Given the description of an element on the screen output the (x, y) to click on. 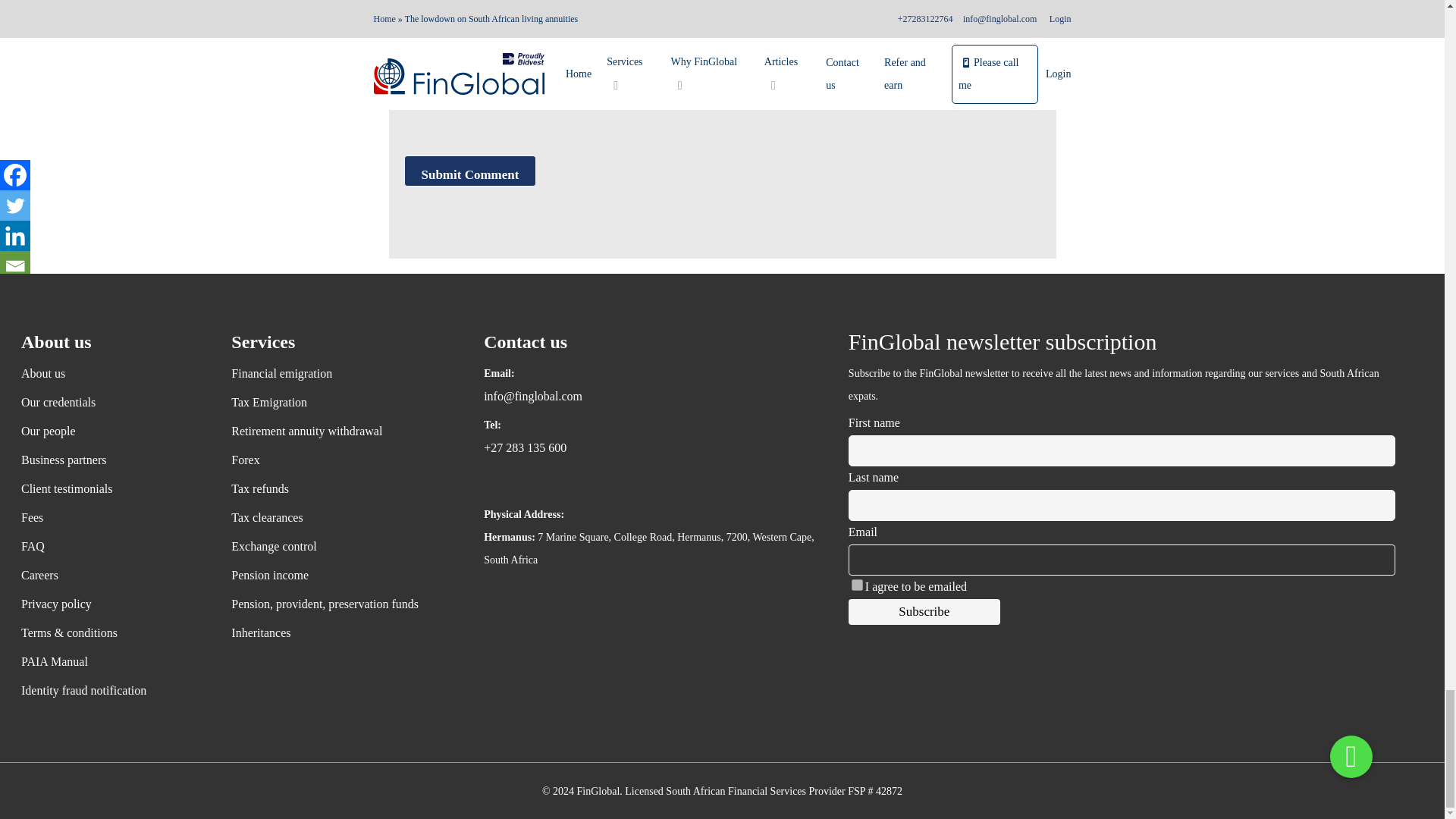
Our Credentials (112, 402)
Submit Comment (469, 170)
yes (724, 65)
About Us (112, 373)
Business Partners (112, 459)
Our People (112, 431)
on (857, 584)
